Given the description of an element on the screen output the (x, y) to click on. 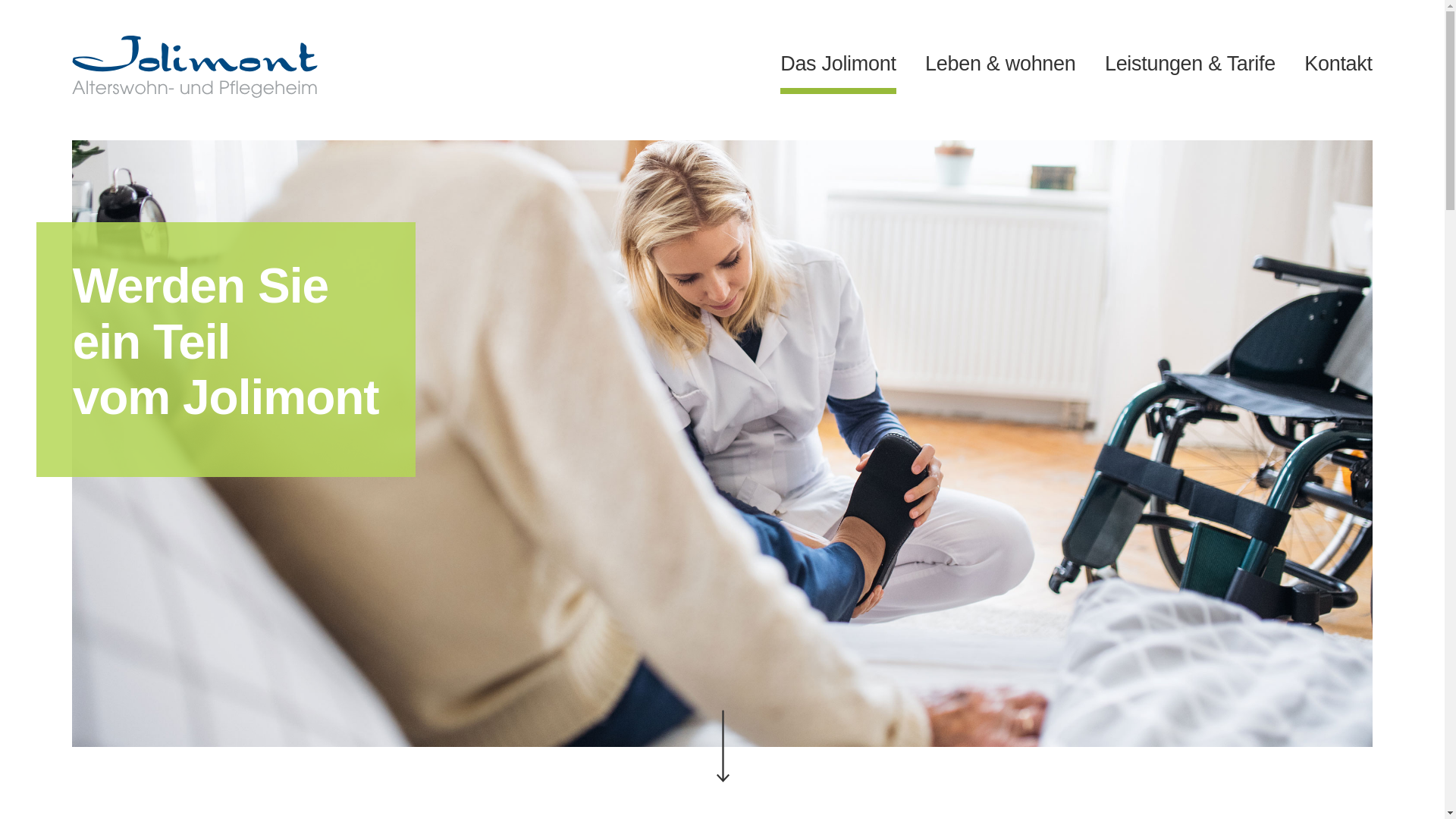
Kontakt Element type: text (1337, 70)
Leben & wohnen Element type: text (1000, 70)
Leistungen & Tarife Element type: text (1189, 70)
Das Jolimont Element type: text (837, 67)
